Given the description of an element on the screen output the (x, y) to click on. 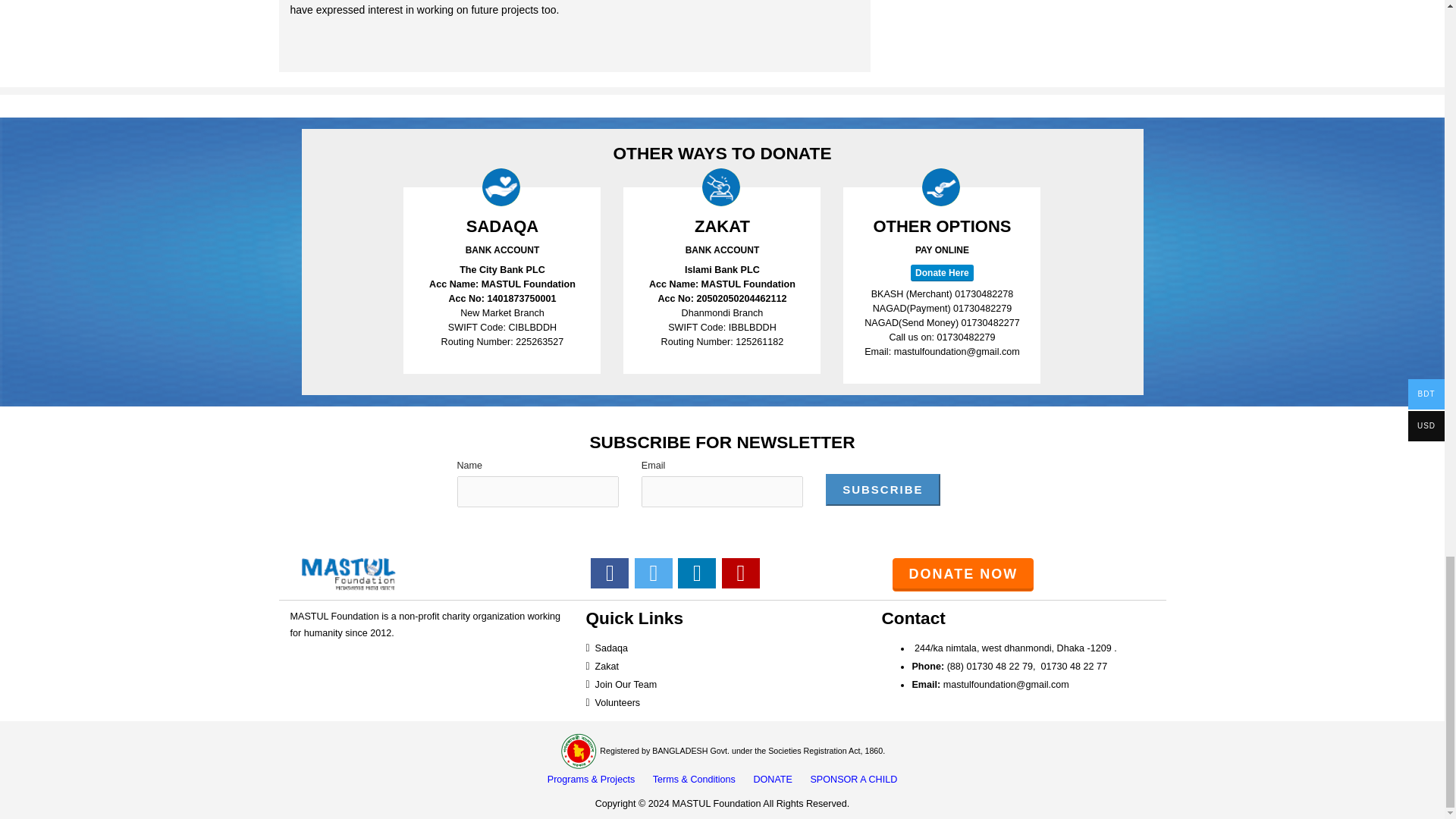
Subscribe (882, 490)
